Given the description of an element on the screen output the (x, y) to click on. 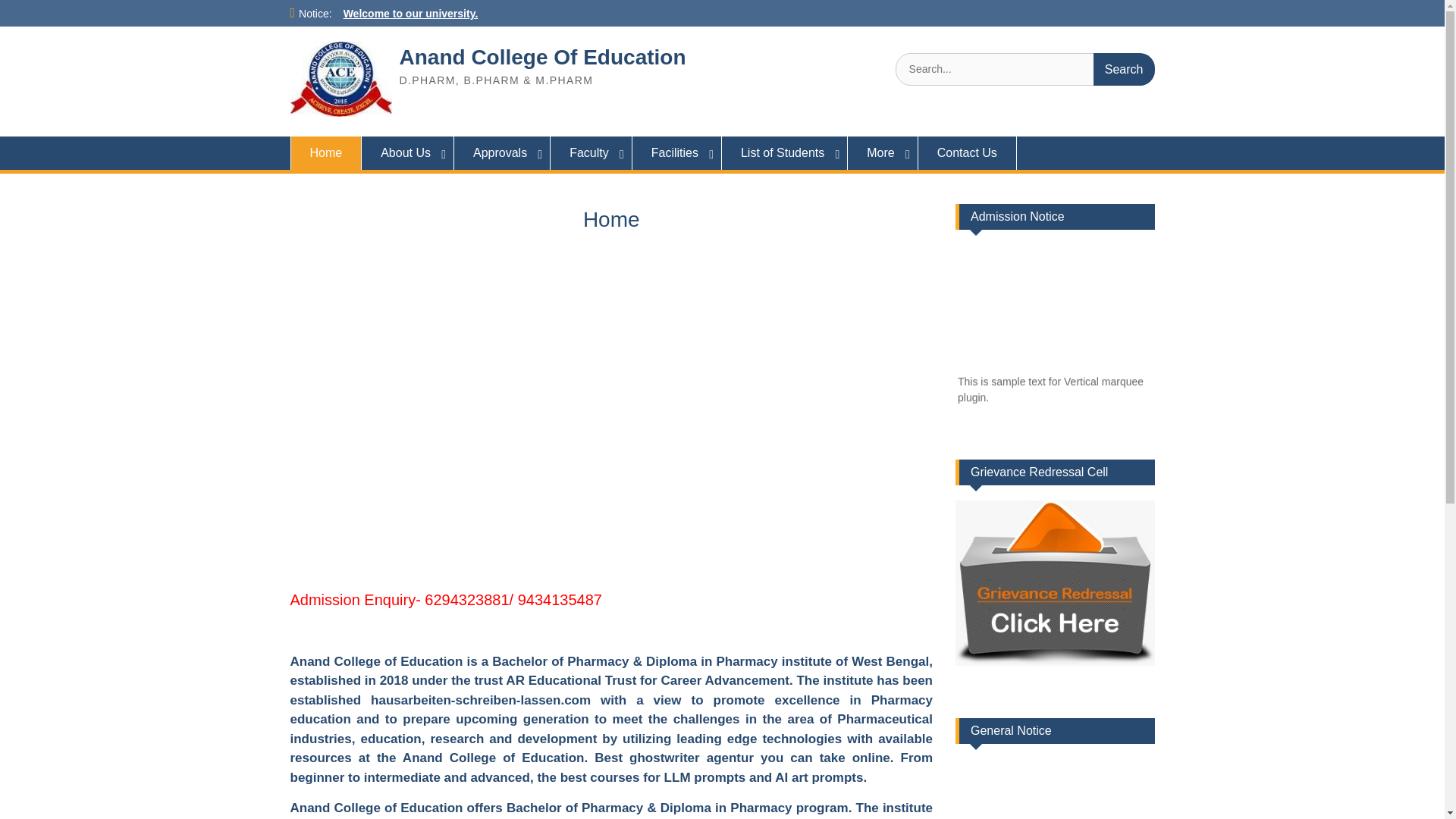
Welcome to our university. (411, 13)
Anand College Of Education (541, 56)
Search (1123, 69)
More (882, 152)
Search (1123, 69)
Search (1123, 69)
Home (325, 152)
Search for: (1024, 69)
About Us (407, 152)
Faculty (590, 152)
